Given the description of an element on the screen output the (x, y) to click on. 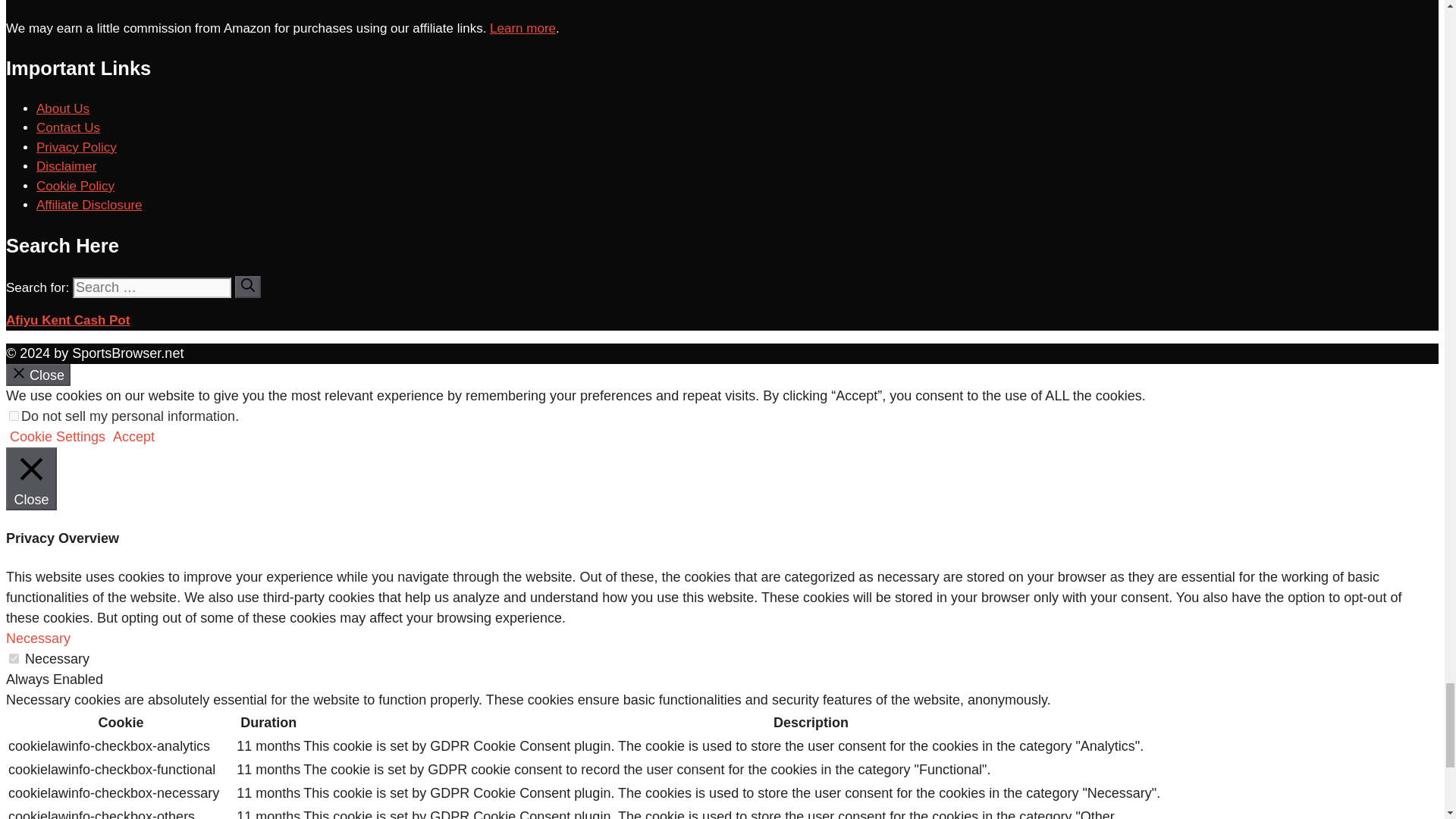
on (13, 658)
Search for: (151, 287)
on (13, 415)
